Given the description of an element on the screen output the (x, y) to click on. 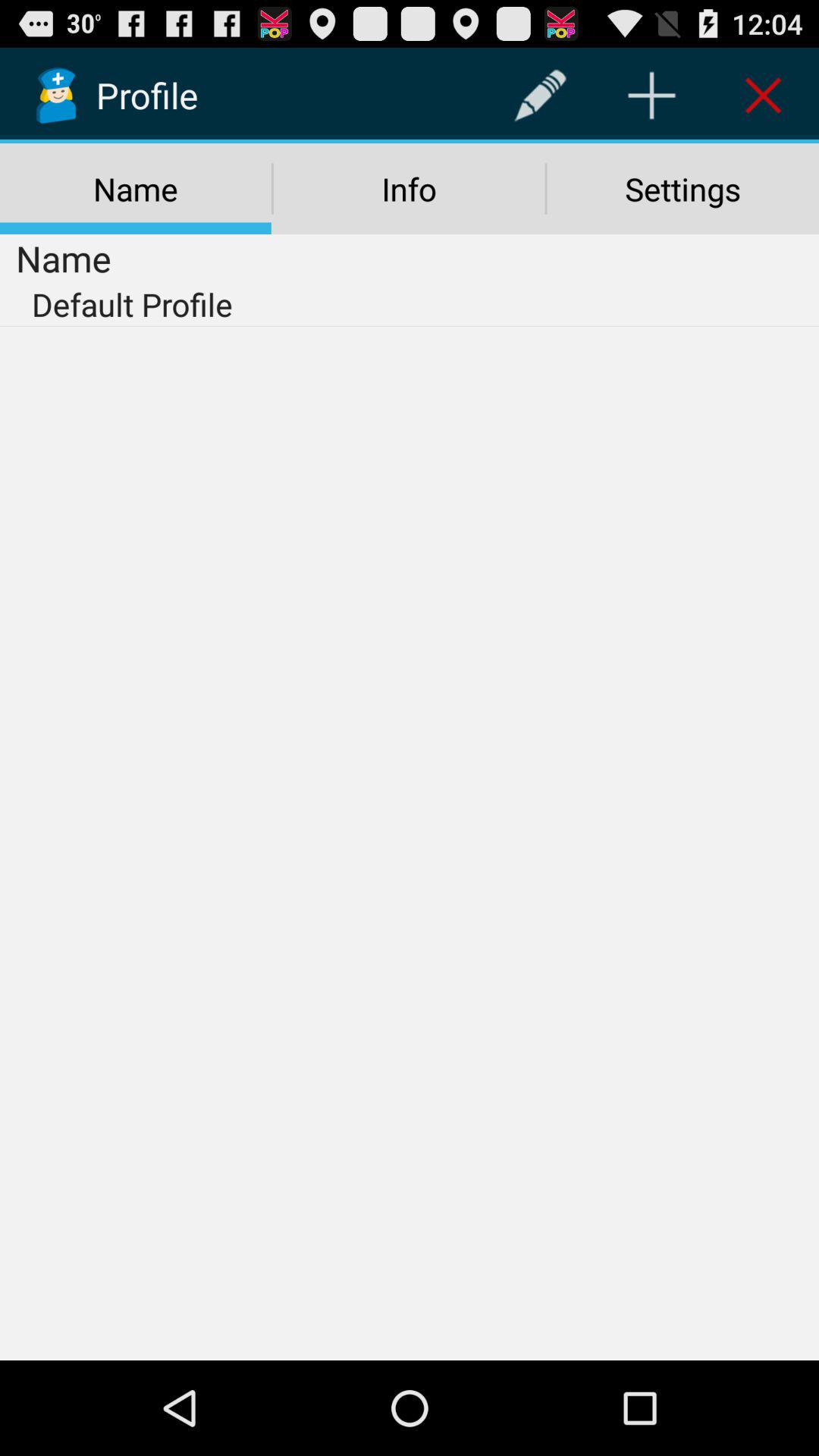
swipe to the settings item (683, 188)
